Given the description of an element on the screen output the (x, y) to click on. 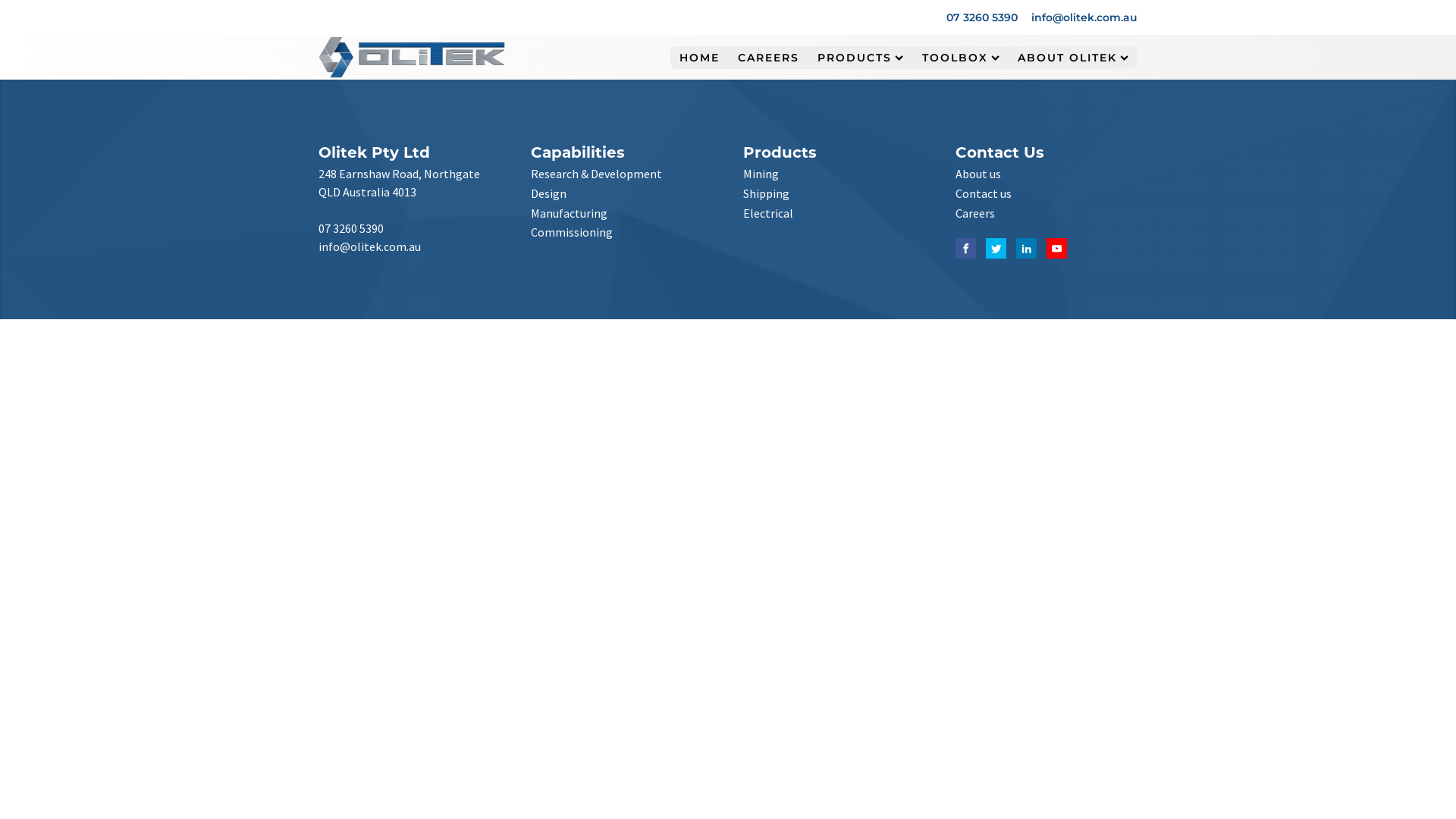
Olitek Pty Ltd Element type: text (373, 152)
Contact us Element type: text (983, 193)
Shipping Element type: text (766, 193)
Mining Element type: text (760, 174)
PRODUCTS Element type: text (860, 57)
Manufacturing Element type: text (568, 213)
Research & Development Element type: text (596, 174)
Careers Element type: text (974, 213)
HOME Element type: text (699, 57)
TOOLBOX Element type: text (960, 57)
Commissioning Element type: text (571, 232)
CAREERS Element type: text (768, 57)
About us Element type: text (978, 174)
ABOUT OLITEK Element type: text (1072, 57)
Design Element type: text (548, 193)
Electrical Element type: text (768, 213)
